Given the description of an element on the screen output the (x, y) to click on. 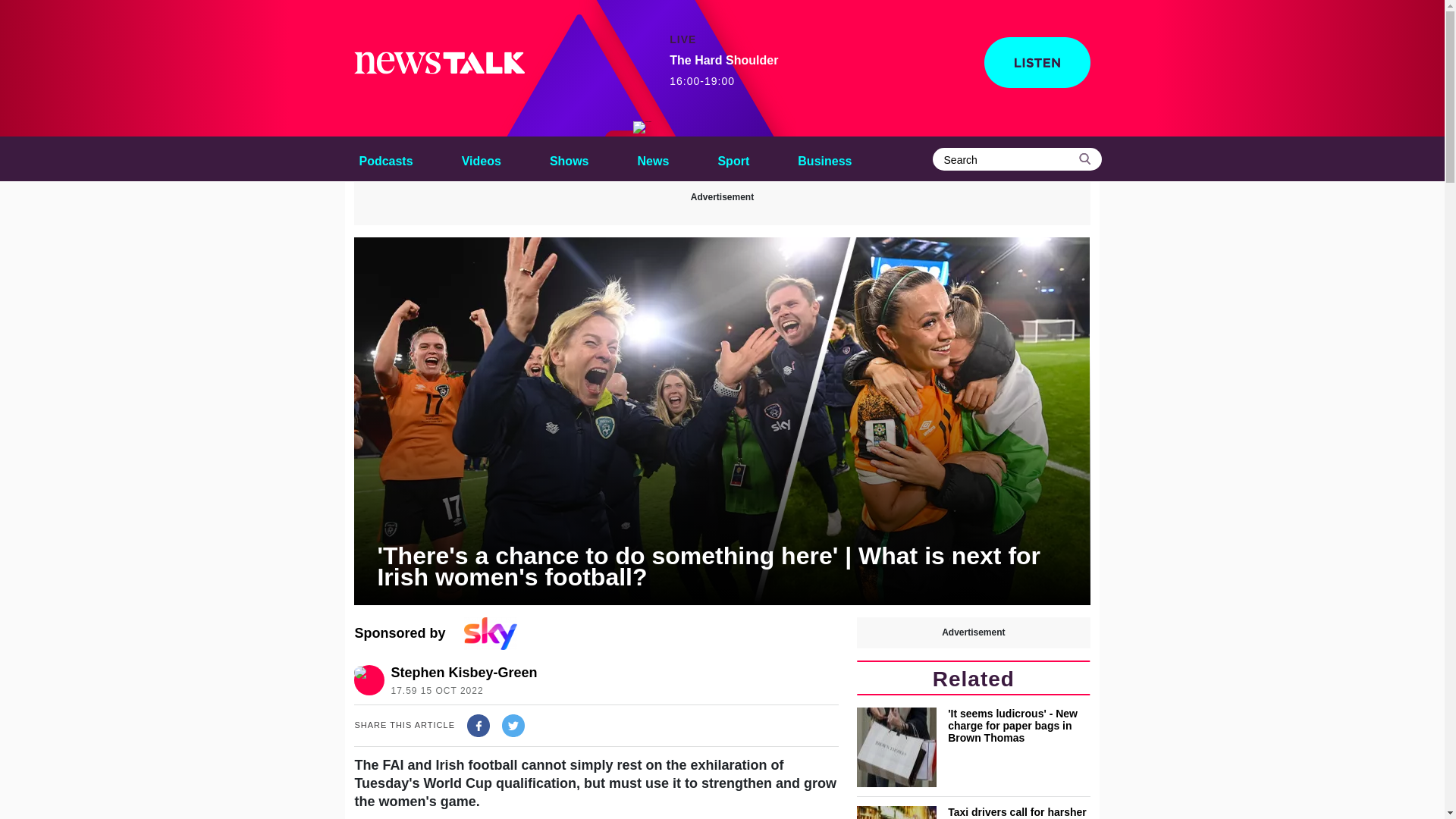
Podcasts (384, 158)
Videos (481, 158)
Stephen Kisbey-Green (463, 672)
Sport (733, 158)
News (653, 158)
Podcasts (384, 158)
Sponsored by (595, 633)
Shows (569, 158)
The Hard Shoulder (641, 127)
Business (824, 158)
